Given the description of an element on the screen output the (x, y) to click on. 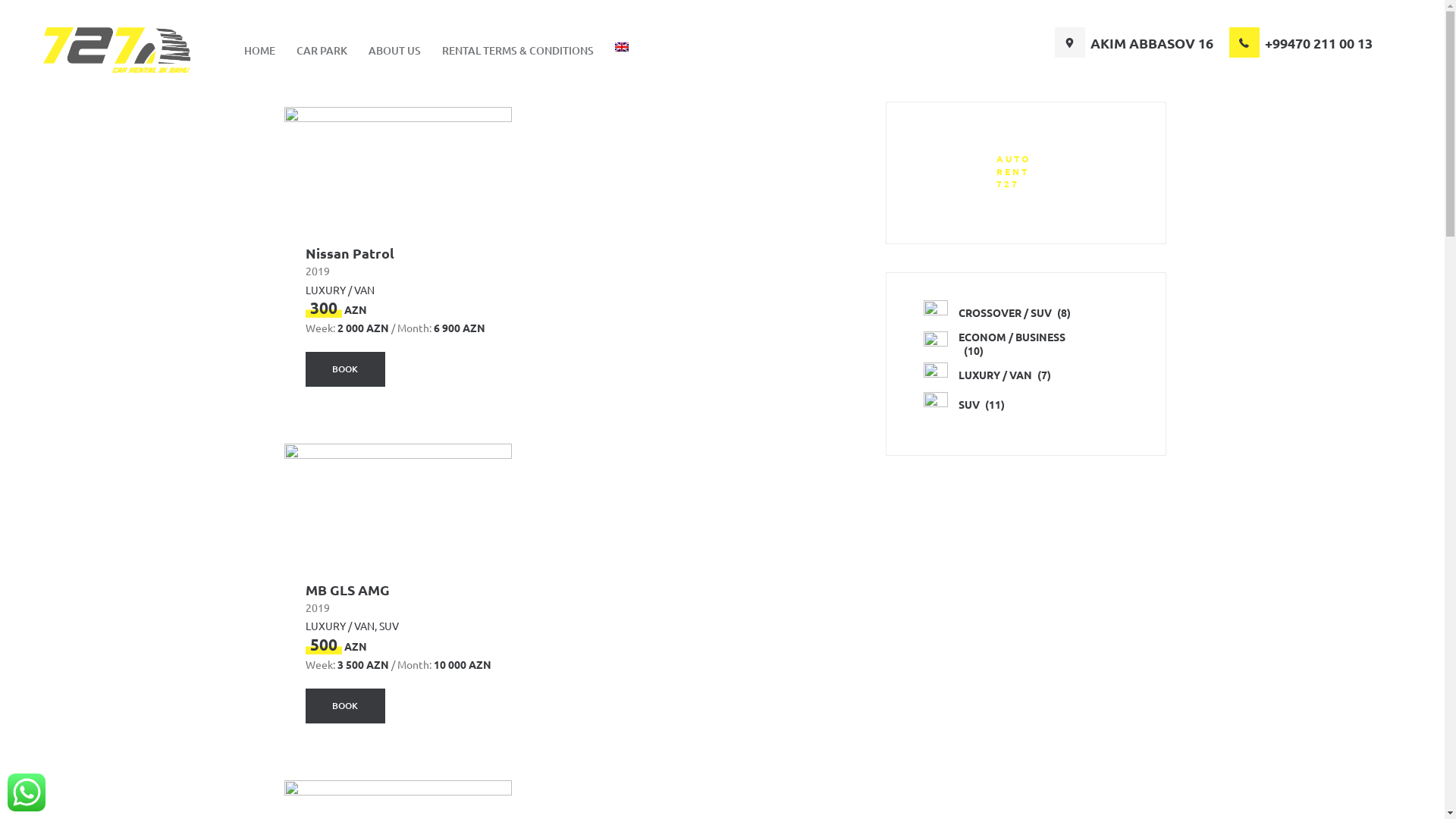
BOOK Element type: text (344, 705)
CROSSOVER / SUV(8) Element type: text (1024, 312)
SUV(11) Element type: text (1024, 404)
HOME Element type: text (259, 50)
BOOK Element type: text (344, 368)
LUXURY / VAN Element type: text (338, 625)
ABOUT US Element type: text (394, 50)
WhatsApp us Element type: hover (26, 792)
AUTO RENT 727 Element type: text (1025, 170)
+99470 211 00 13 Element type: text (1300, 42)
CAR PARK Element type: text (321, 50)
ECONOM / BUSINESS(10) Element type: text (1024, 343)
BOOK Element type: text (344, 705)
BOOK Element type: text (344, 368)
English Element type: hover (621, 50)
LUXURY / VAN Element type: text (338, 289)
LUXURY / VAN(7) Element type: text (1024, 374)
RENTAL TERMS & CONDITIONS Element type: text (517, 50)
, SUV Element type: text (386, 625)
